Given the description of an element on the screen output the (x, y) to click on. 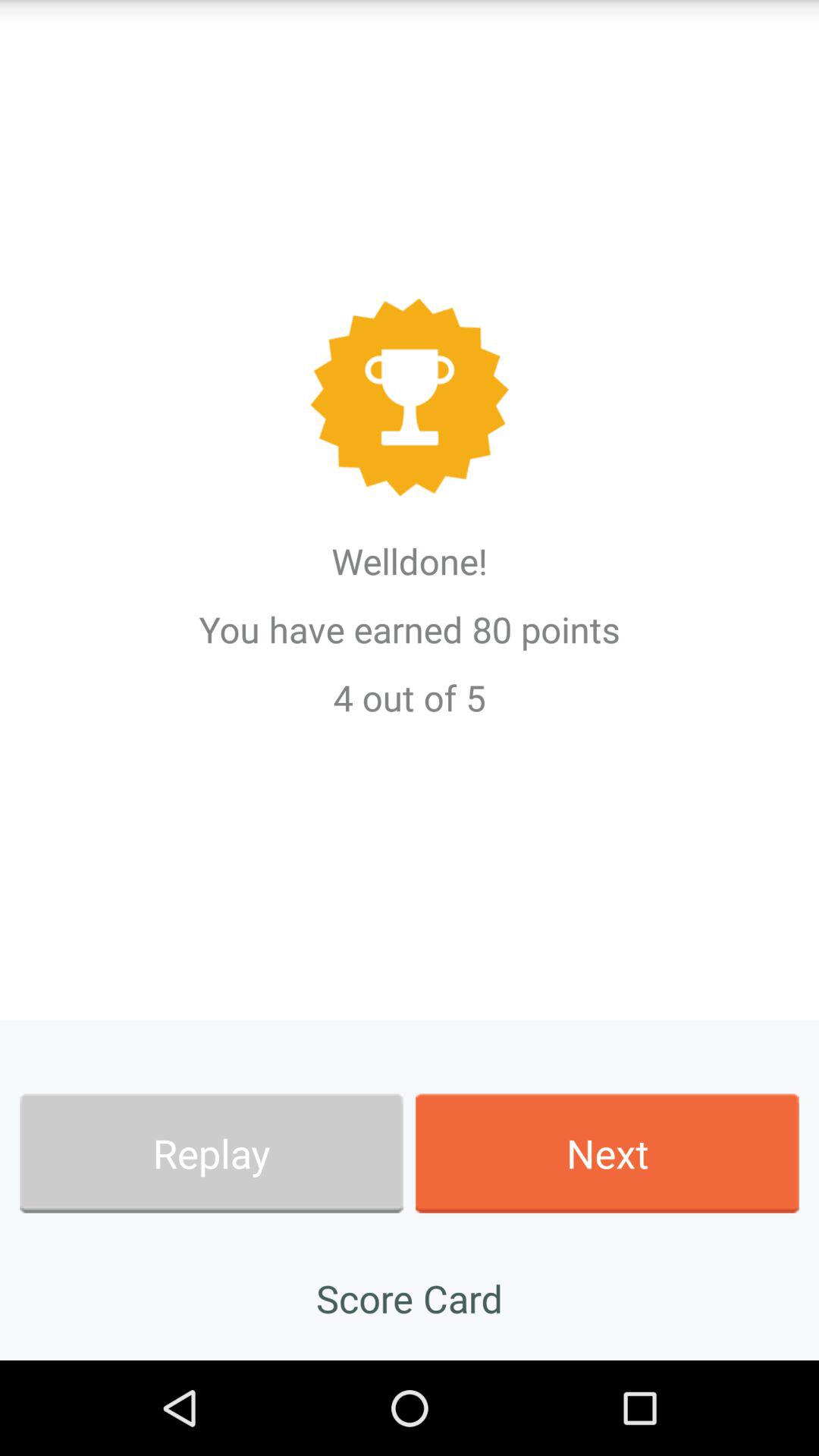
choose item below the 4 out of app (607, 1153)
